Given the description of an element on the screen output the (x, y) to click on. 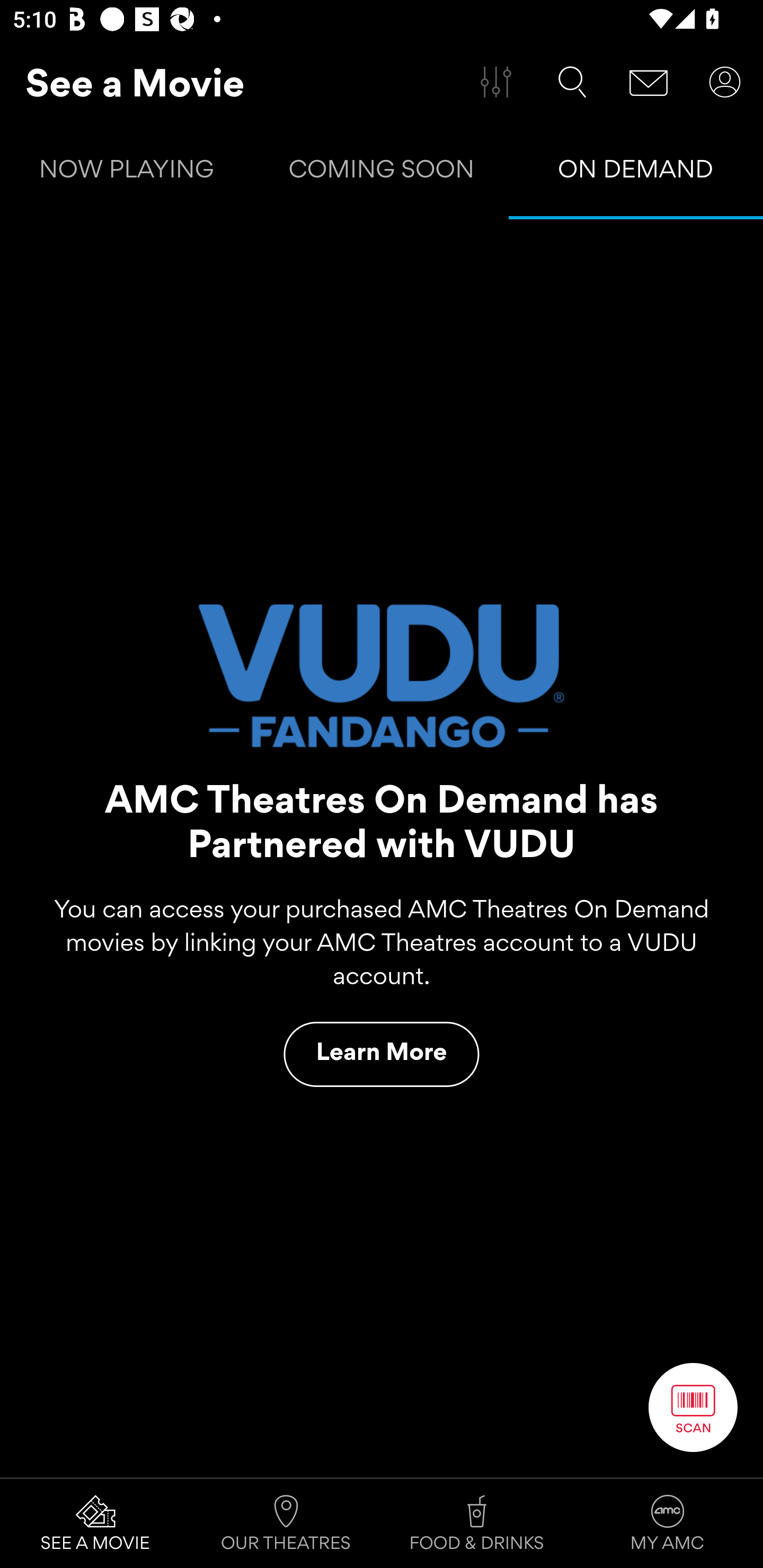
Search (572, 82)
Message Center (648, 82)
User Account (724, 82)
NOW PLAYING
Tab 1 of 3 (127, 173)
COMING SOON
Tab 2 of 3 (381, 173)
ON DEMAND
Tab 3 of 3 (635, 173)
Learn More (381, 1054)
Scan Button (692, 1406)
SEE A MOVIE
Tab 1 of 4 (95, 1523)
OUR THEATRES
Tab 2 of 4 (285, 1523)
FOOD & DRINKS
Tab 3 of 4 (476, 1523)
MY AMC
Tab 4 of 4 (667, 1523)
